Given the description of an element on the screen output the (x, y) to click on. 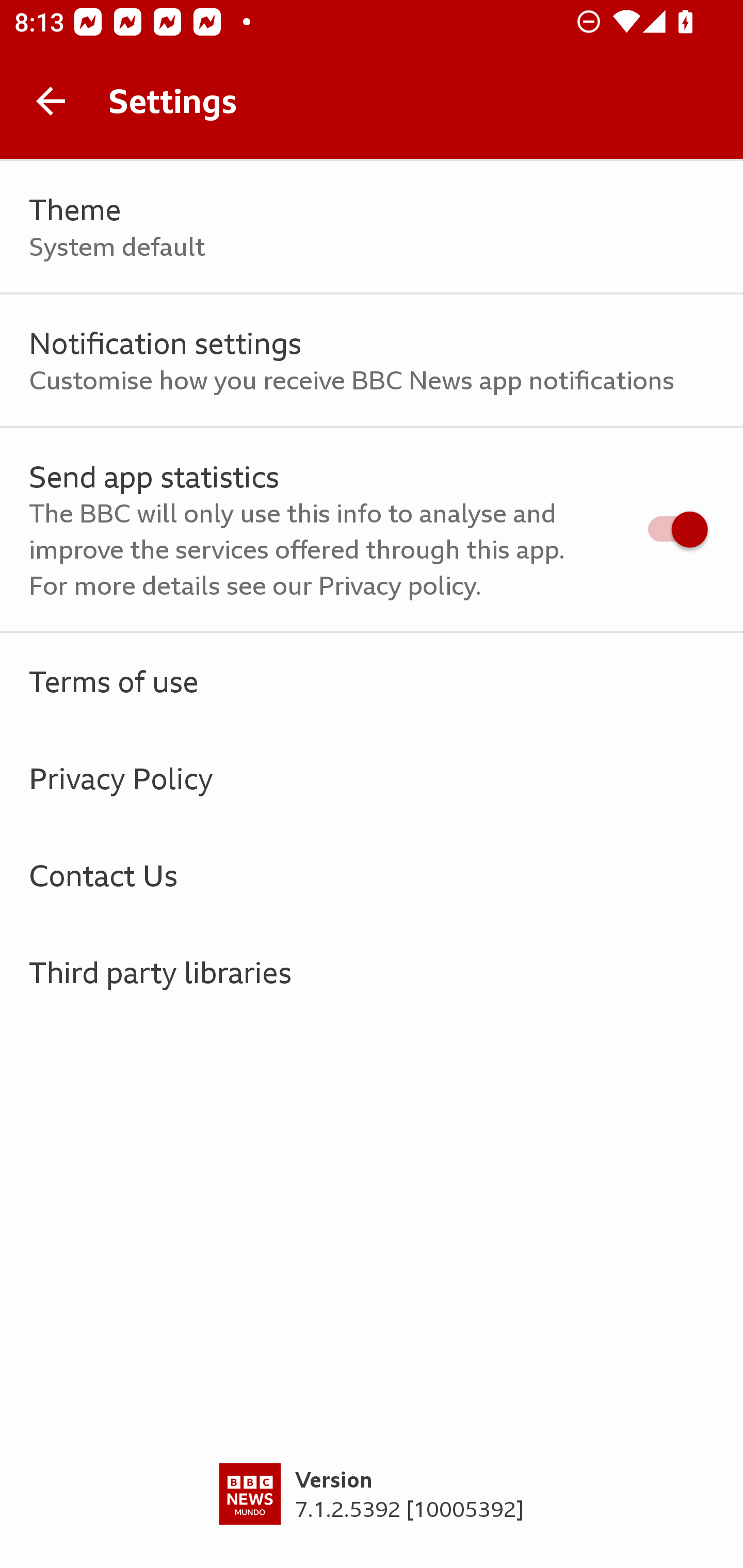
Back (50, 101)
Theme System default (371, 227)
Terms of use (371, 681)
Privacy Policy (371, 777)
Contact Us (371, 874)
Third party libraries (371, 971)
Version 7.1.2.5392 [10005392] (371, 1515)
